Given the description of an element on the screen output the (x, y) to click on. 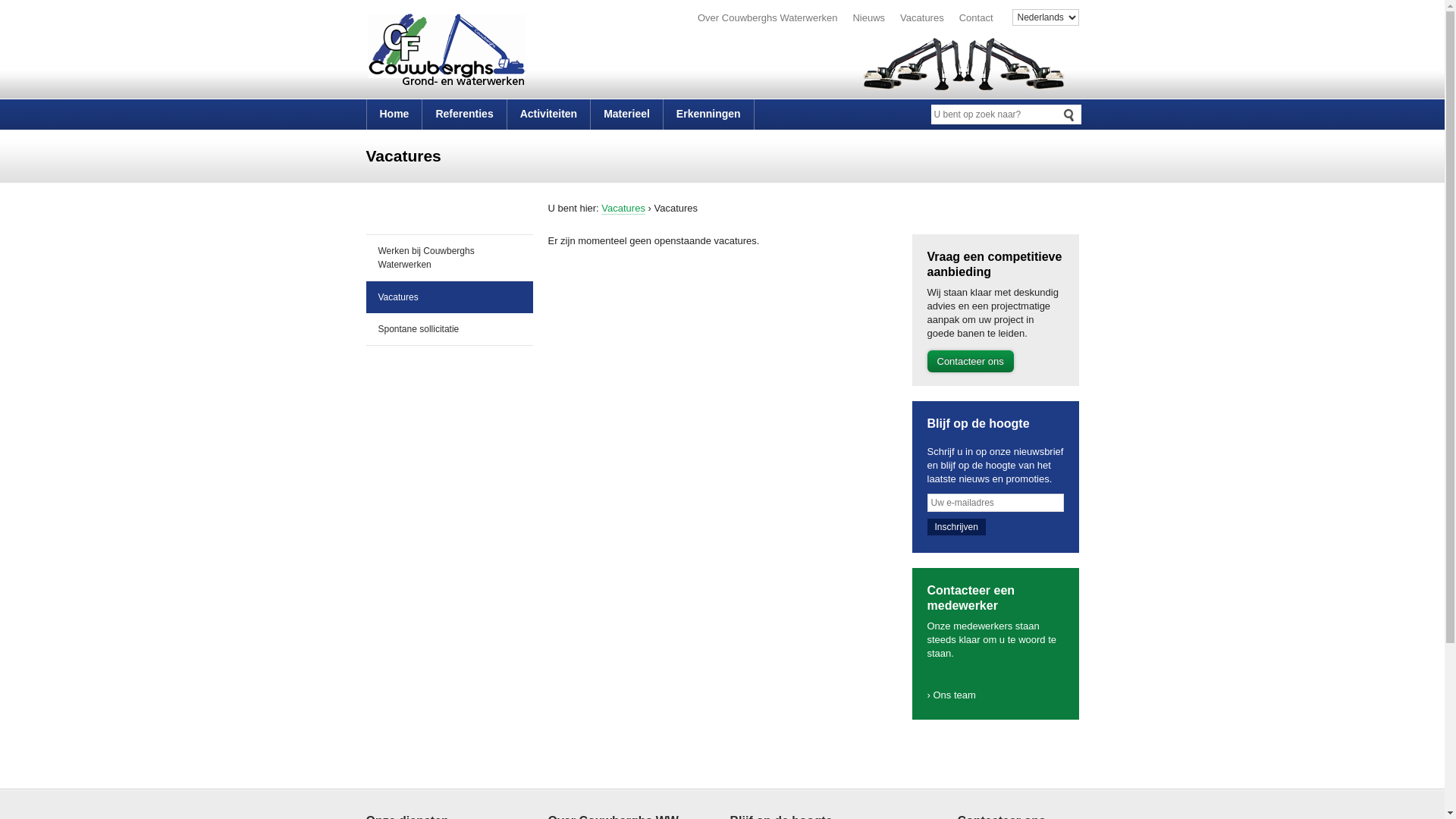
Materieel Element type: text (626, 114)
Nieuws Element type: text (868, 17)
Search Element type: text (1069, 113)
Spontane sollicitatie Element type: text (448, 329)
Inschrijven Element type: text (955, 526)
Contact Element type: text (976, 17)
Referenties Element type: text (463, 114)
Vacatures Element type: text (922, 17)
Contacteer ons Element type: text (969, 361)
Over Couwberghs Waterwerken Element type: text (767, 17)
Vacatures Element type: text (623, 208)
Couwberghs Grond- en Waterwerken Element type: text (479, 52)
Werken bij Couwberghs Waterwerken Element type: text (448, 257)
Vacatures Element type: text (448, 297)
Erkenningen Element type: text (708, 114)
Activiteiten Element type: text (548, 114)
Home Element type: text (394, 114)
